Given the description of an element on the screen output the (x, y) to click on. 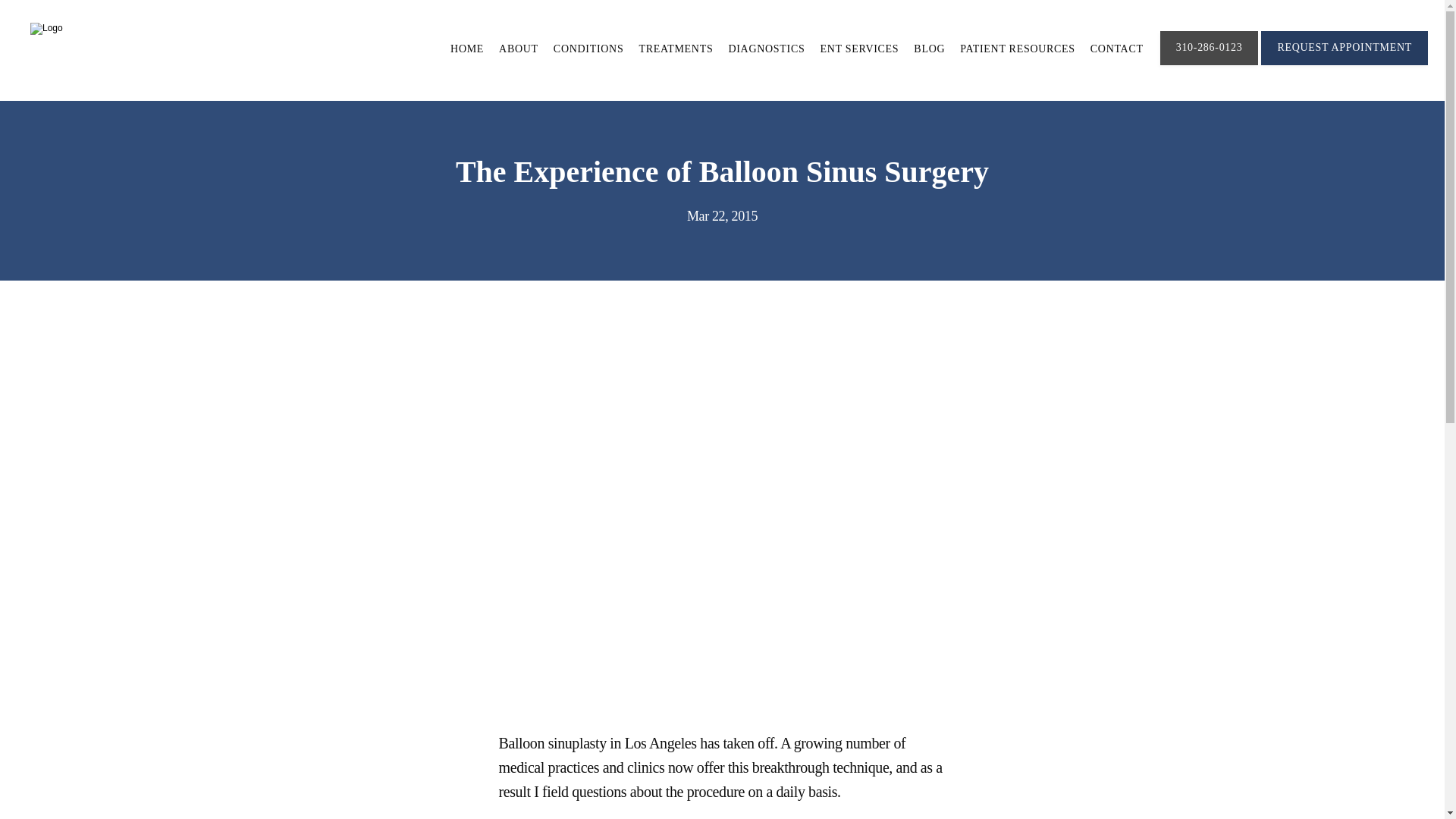
ABOUT (518, 48)
HOME (466, 48)
ENT SERVICES (858, 48)
